Given the description of an element on the screen output the (x, y) to click on. 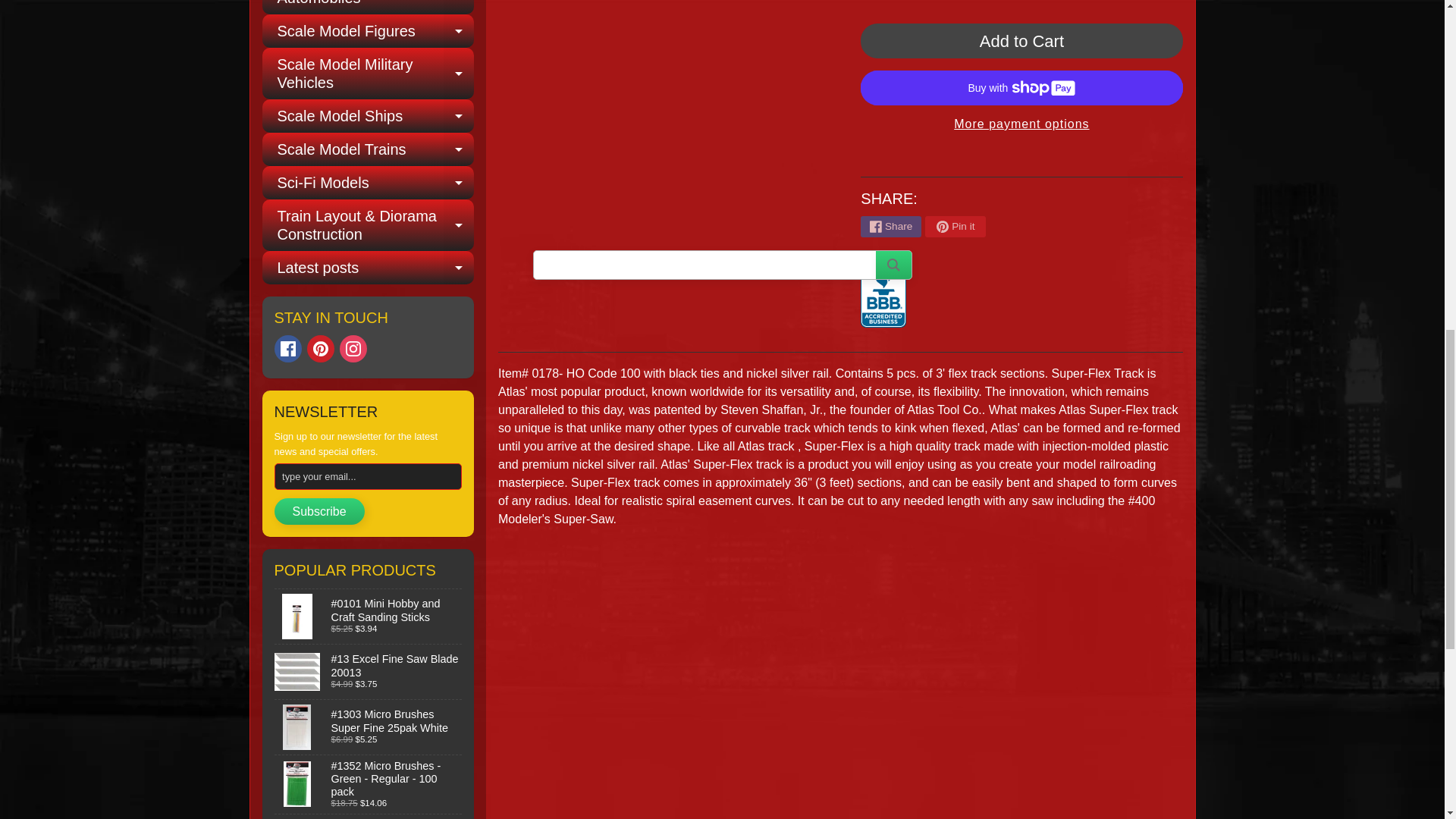
Share on Facebook (890, 226)
Facebook (288, 348)
Instagram (352, 348)
Pinterest (320, 348)
Pin on Pinterest (954, 226)
